Given the description of an element on the screen output the (x, y) to click on. 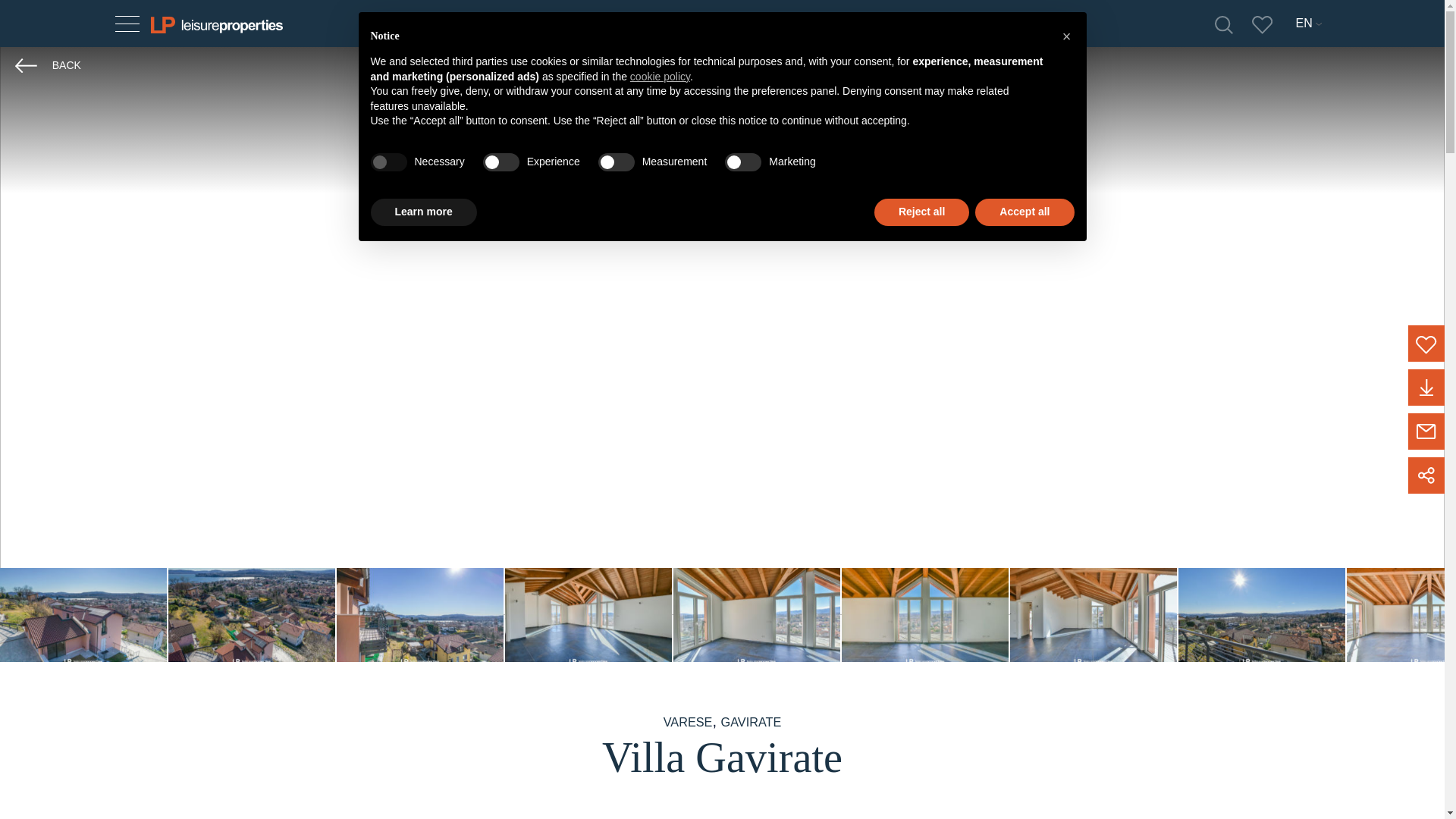
false (616, 162)
true (387, 162)
false (501, 162)
BACK (48, 64)
false (743, 162)
